Given the description of an element on the screen output the (x, y) to click on. 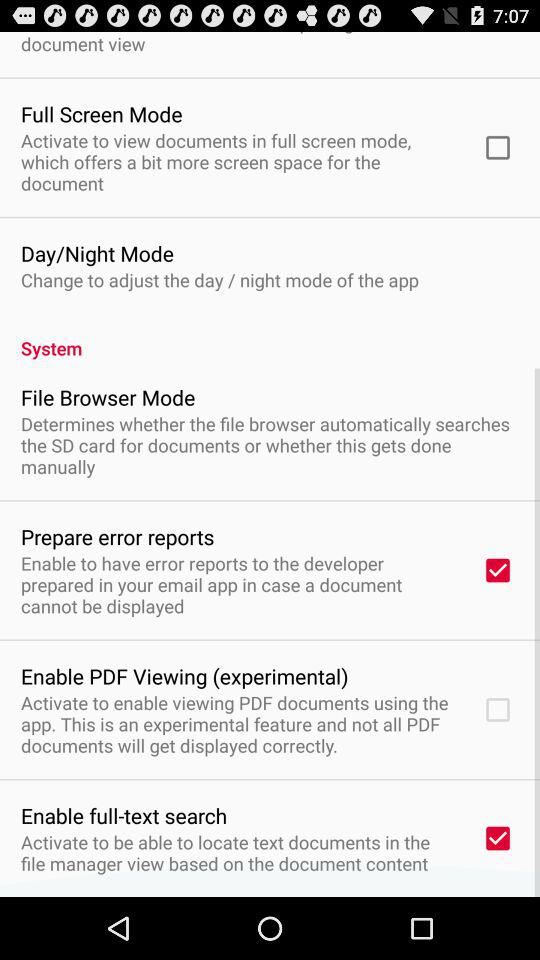
tap the icon at the bottom left corner (124, 815)
